Given the description of an element on the screen output the (x, y) to click on. 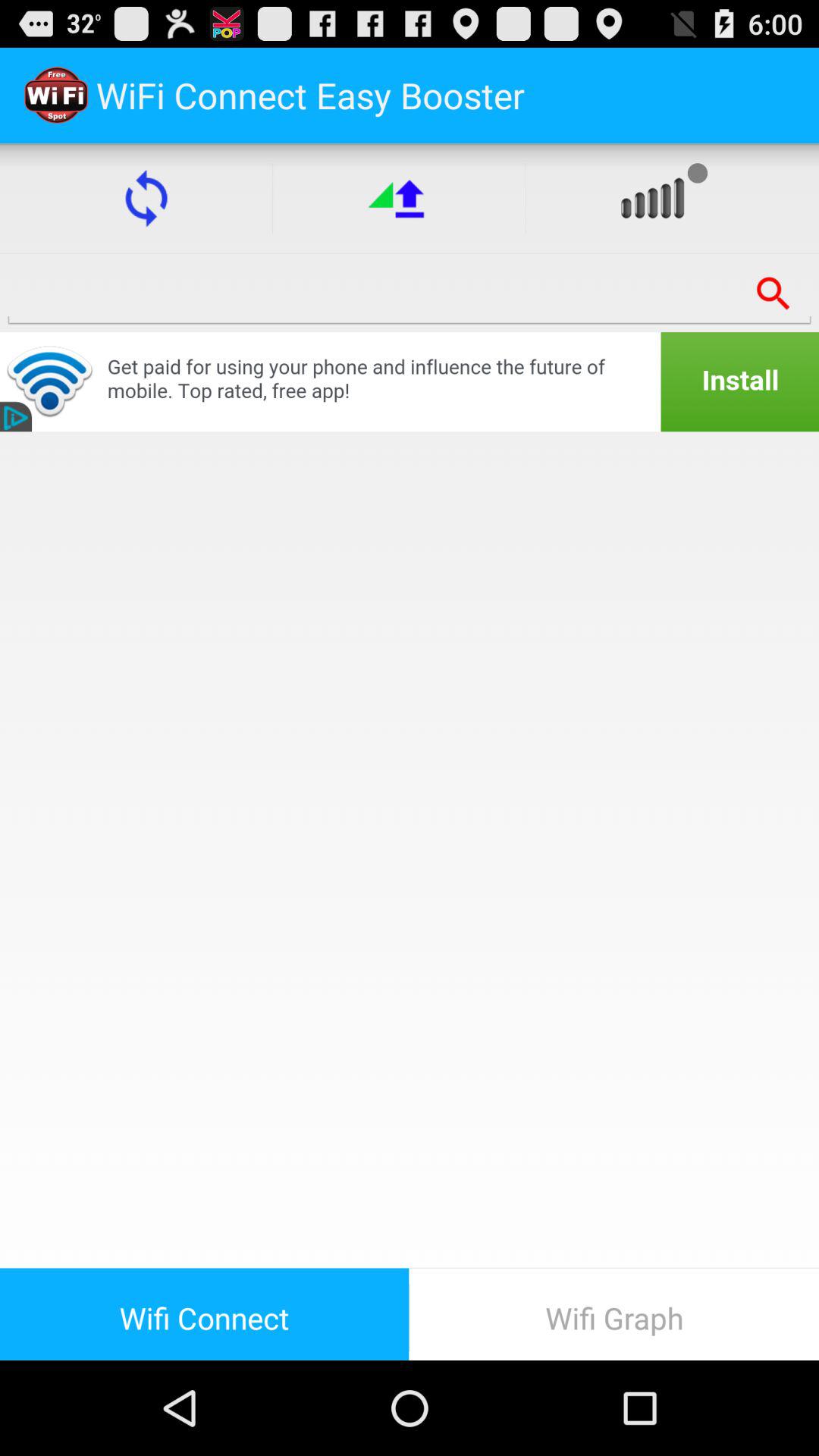
click on the reload button (145, 197)
select the upward arrow button (398, 197)
click on the logo at top left corner (55, 95)
click on the search button above install (774, 292)
